Given the description of an element on the screen output the (x, y) to click on. 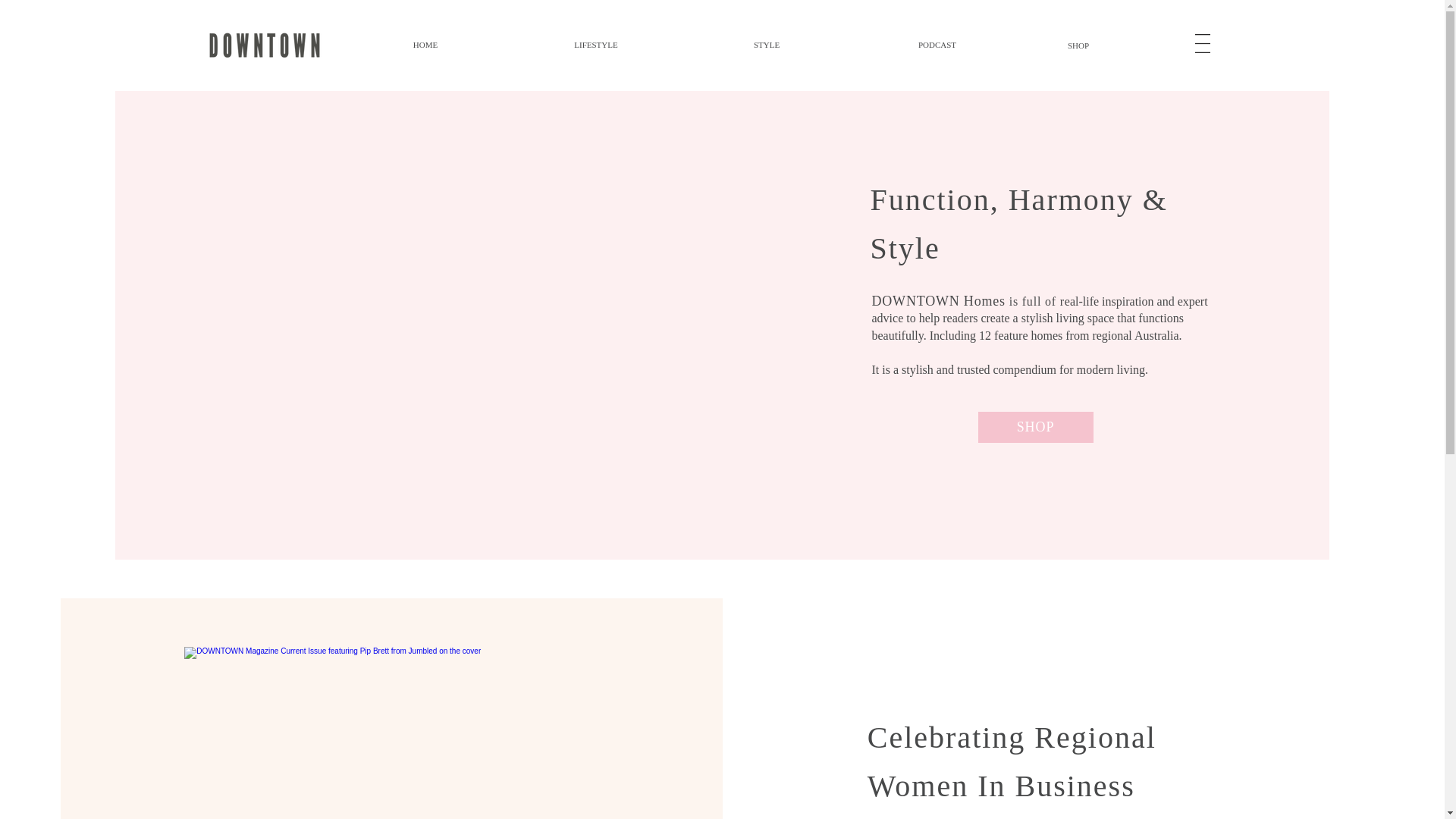
LIFESTYLE (596, 44)
HOME (425, 44)
PODCAST (937, 44)
SHOP (1035, 427)
SHOP (1078, 45)
STYLE (766, 44)
